Given the description of an element on the screen output the (x, y) to click on. 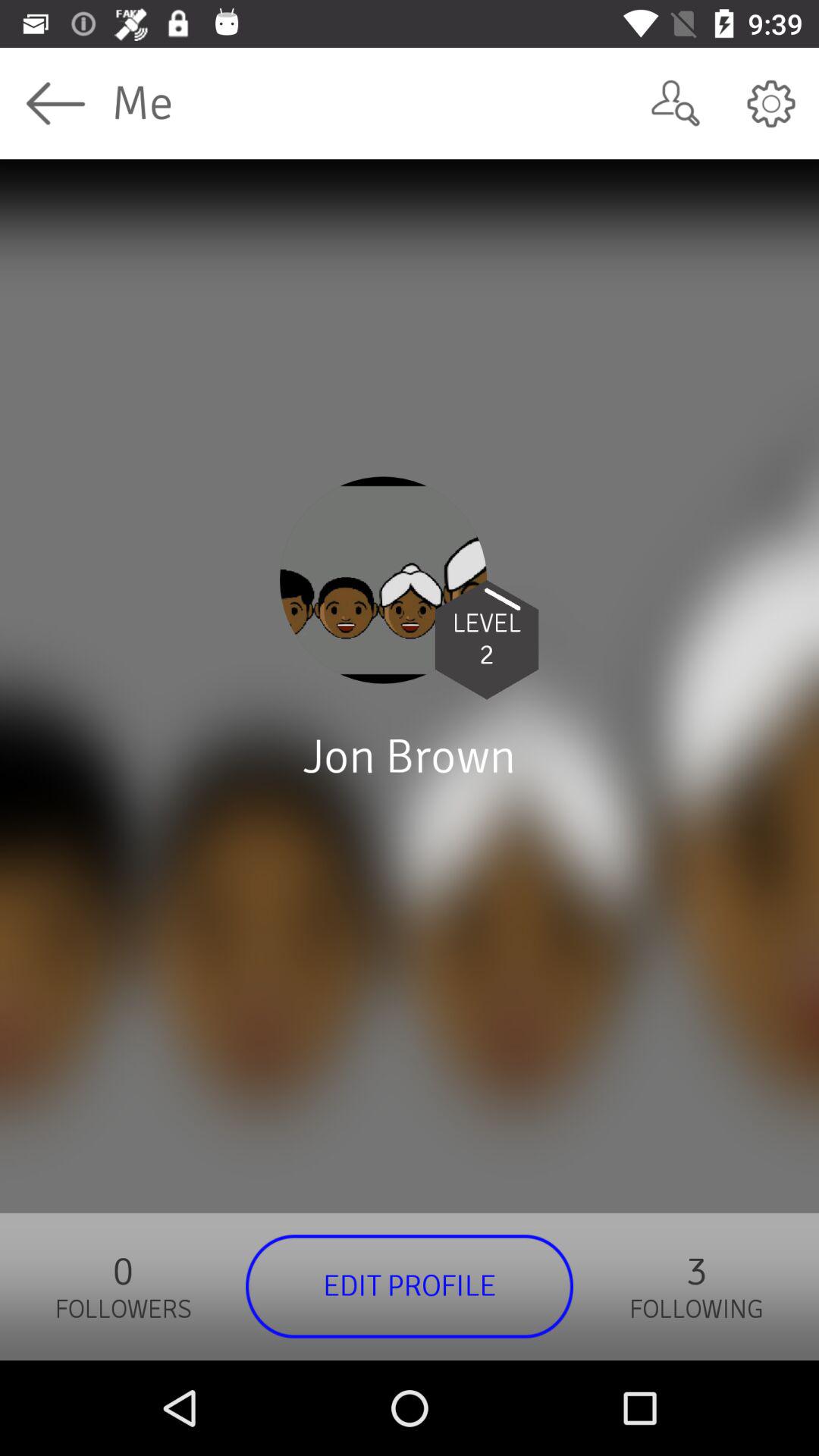
press app to the right of 0 item (409, 1286)
